Given the description of an element on the screen output the (x, y) to click on. 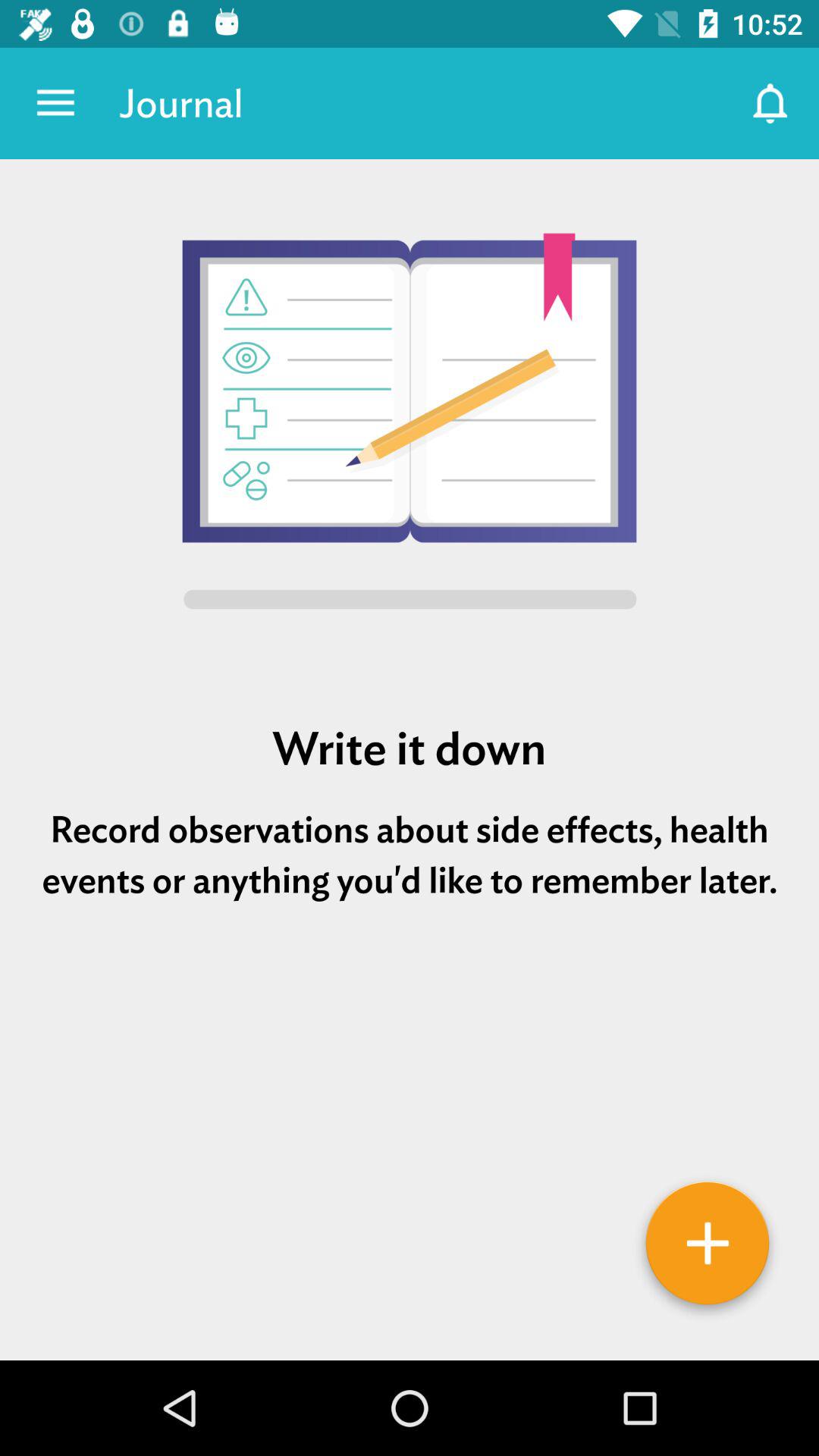
swipe to the write it down icon (409, 748)
